Given the description of an element on the screen output the (x, y) to click on. 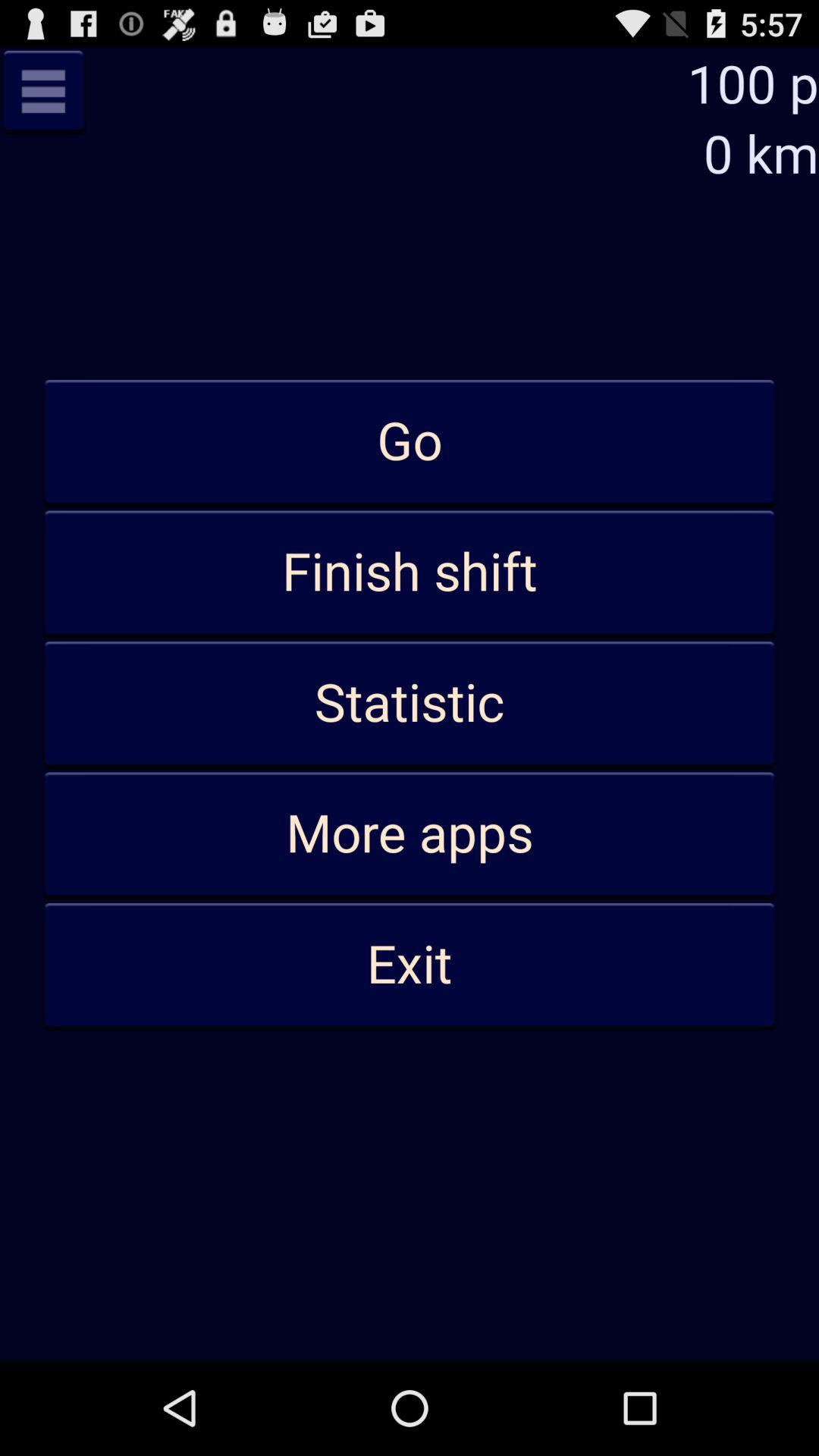
turn off the go (409, 442)
